Given the description of an element on the screen output the (x, y) to click on. 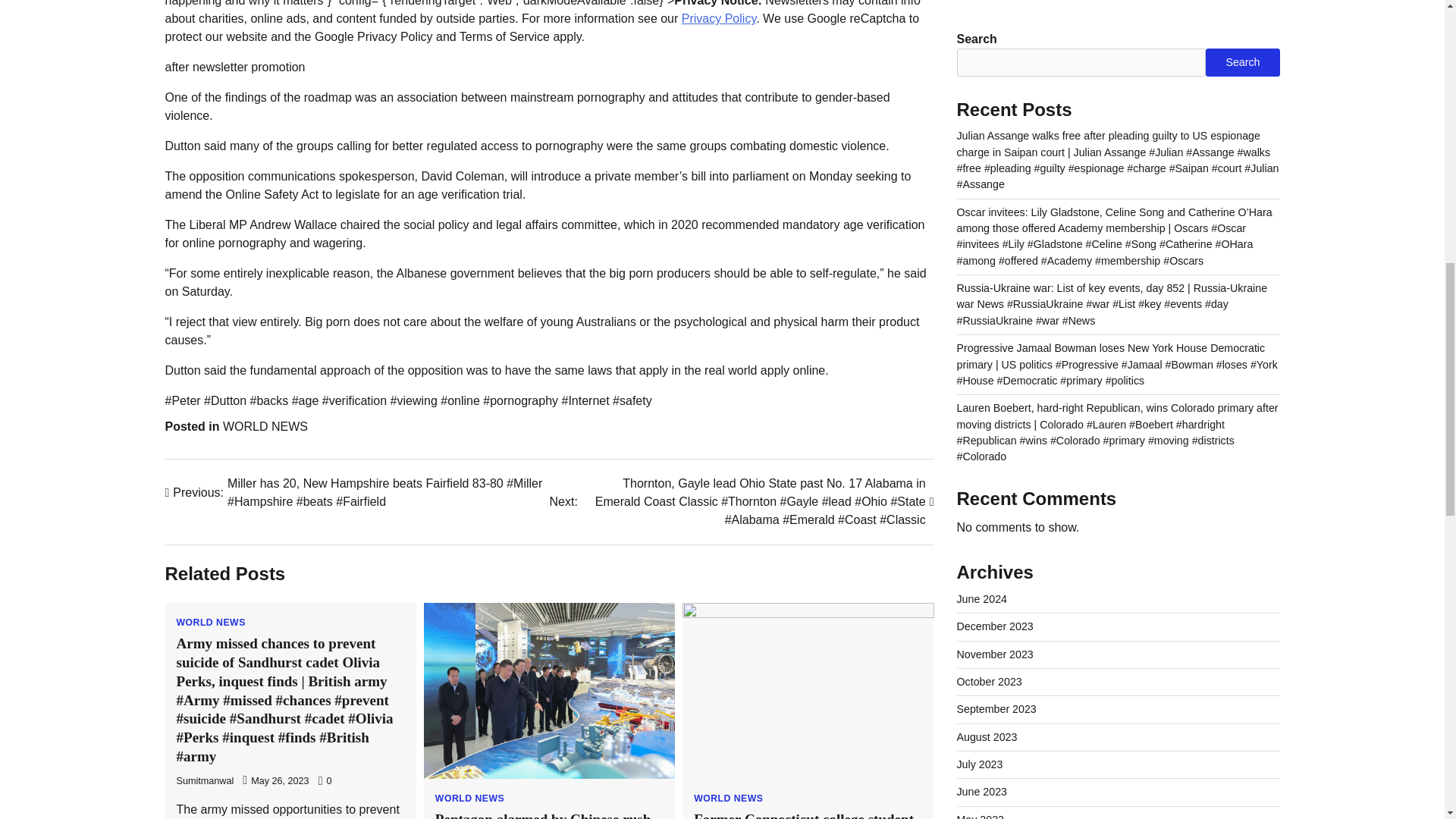
May 2023 (980, 157)
WORLD NEWS (210, 622)
August 2023 (986, 74)
Sumitmanwal (204, 780)
June 2023 (981, 129)
Privacy Policy (718, 18)
WORLD NEWS (728, 798)
September 2023 (996, 46)
WORLD NEWS (469, 798)
WORLD NEWS (264, 426)
October 2023 (989, 19)
July 2023 (979, 102)
April 2023 (981, 184)
